Given the description of an element on the screen output the (x, y) to click on. 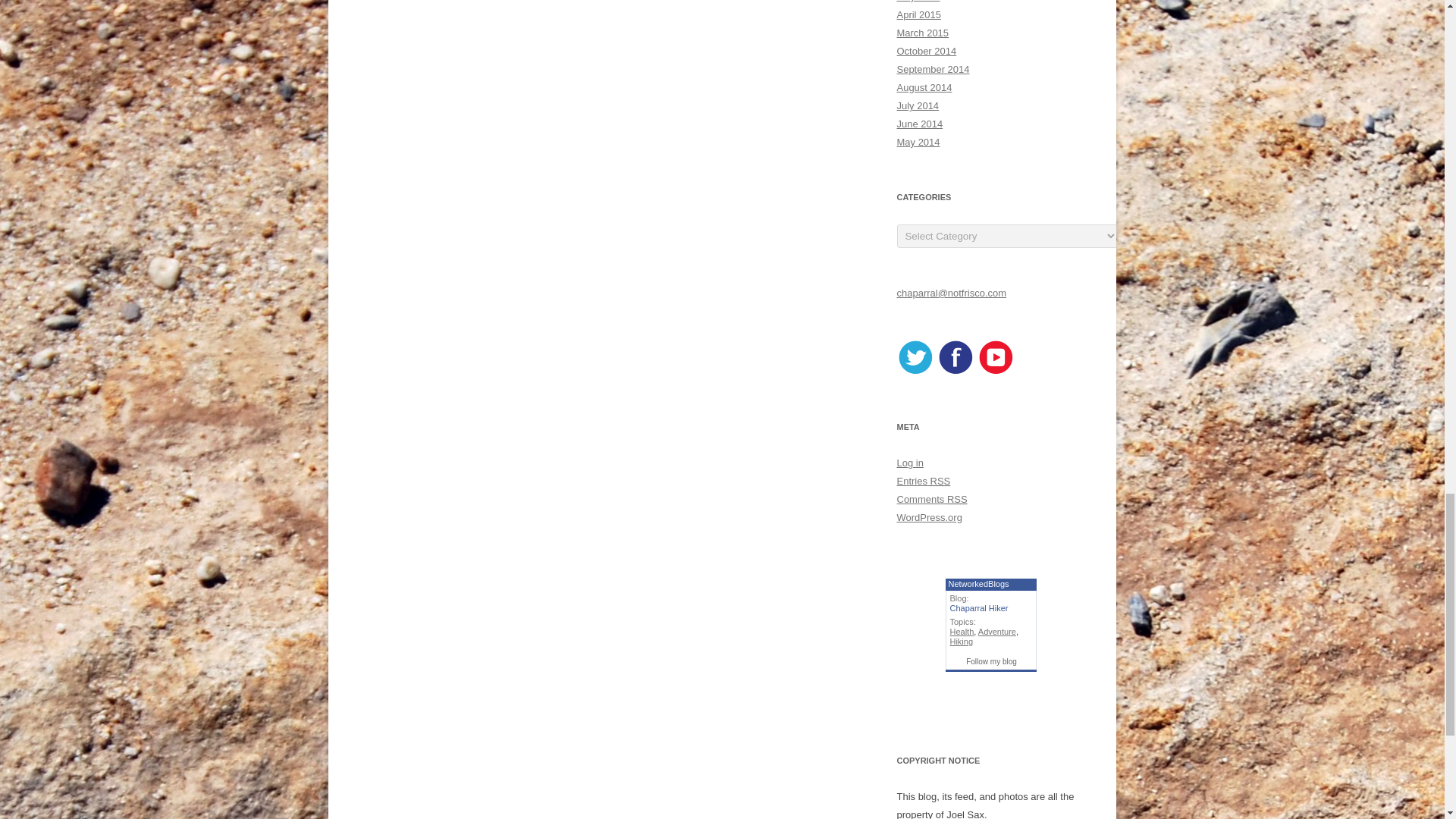
Really Simple Syndication (957, 499)
Youtube (994, 371)
Twitter (914, 371)
Really Simple Syndication (940, 480)
Facebook (955, 371)
